Given the description of an element on the screen output the (x, y) to click on. 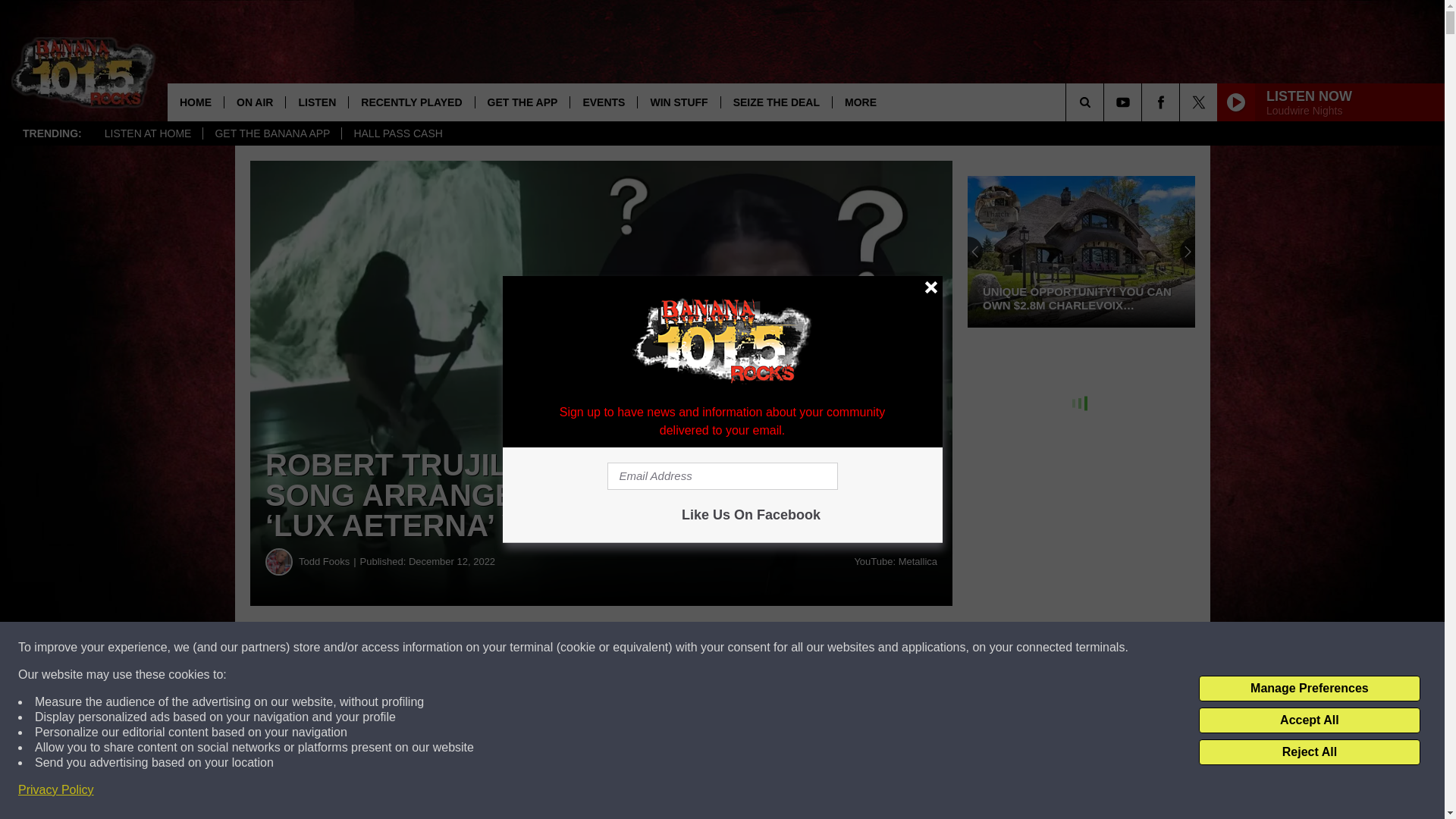
LISTEN (316, 102)
WIN STUFF (678, 102)
Privacy Policy (55, 789)
EVENTS (603, 102)
SEIZE THE DEAL (775, 102)
MORE (859, 102)
RECENTLY PLAYED (410, 102)
SEARCH (1106, 102)
HOME (195, 102)
Accept All (1309, 720)
LISTEN AT HOME (148, 133)
Manage Preferences (1309, 688)
Reject All (1309, 751)
Share on Twitter (741, 647)
TRENDING: (52, 133)
